Given the description of an element on the screen output the (x, y) to click on. 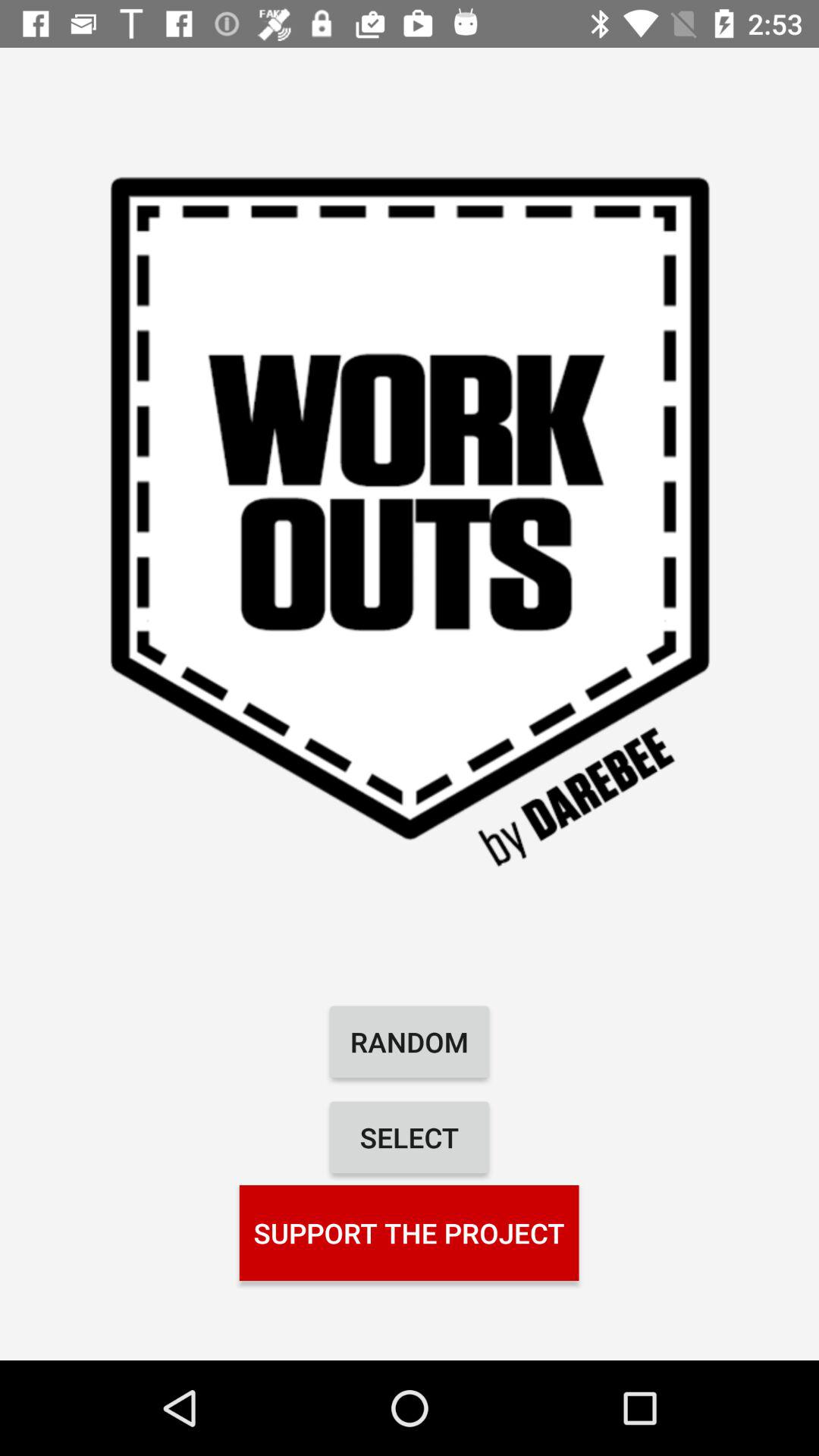
select the icon above the support the project icon (409, 1137)
